Given the description of an element on the screen output the (x, y) to click on. 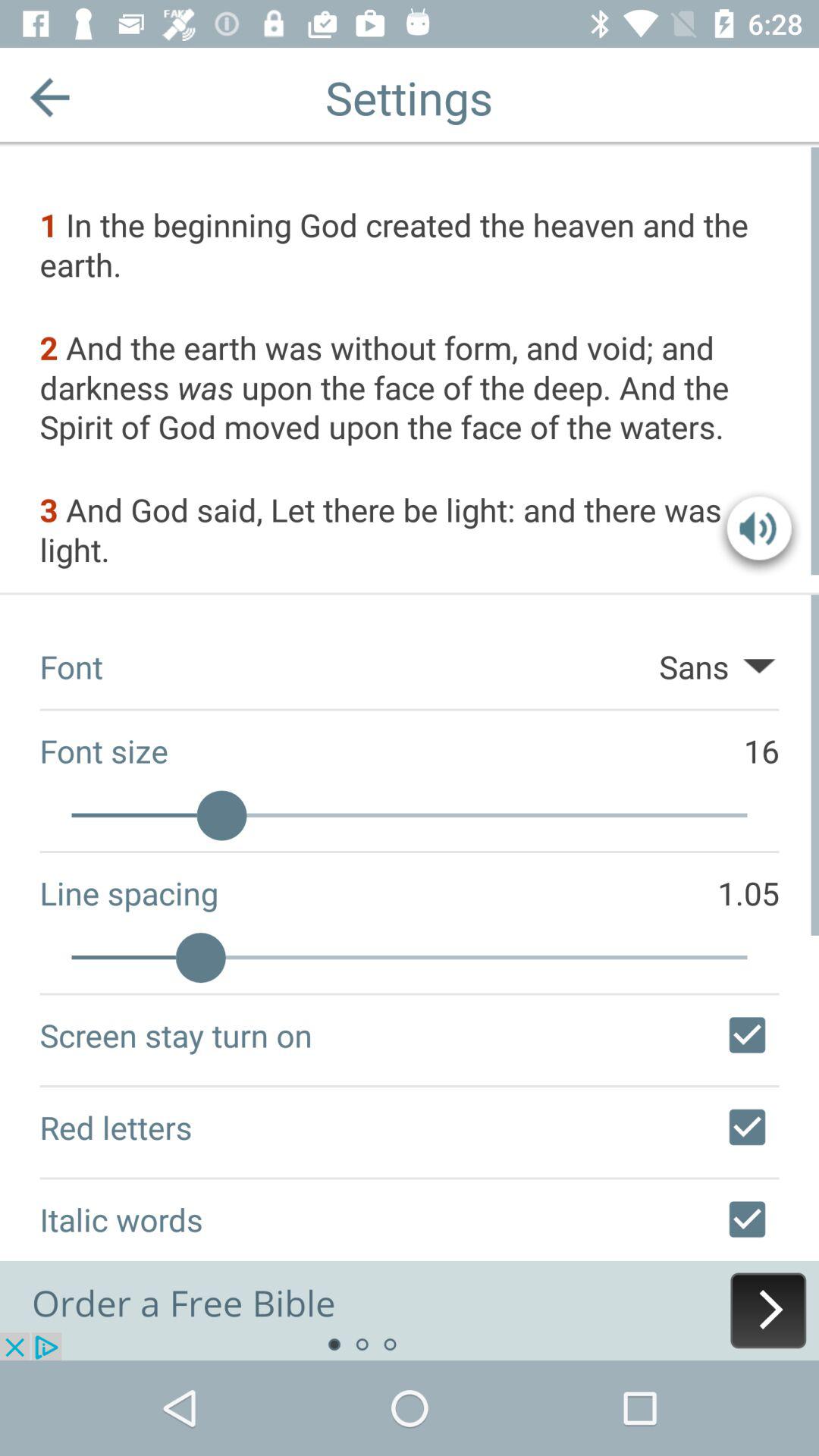
adjust the volume (759, 532)
